Given the description of an element on the screen output the (x, y) to click on. 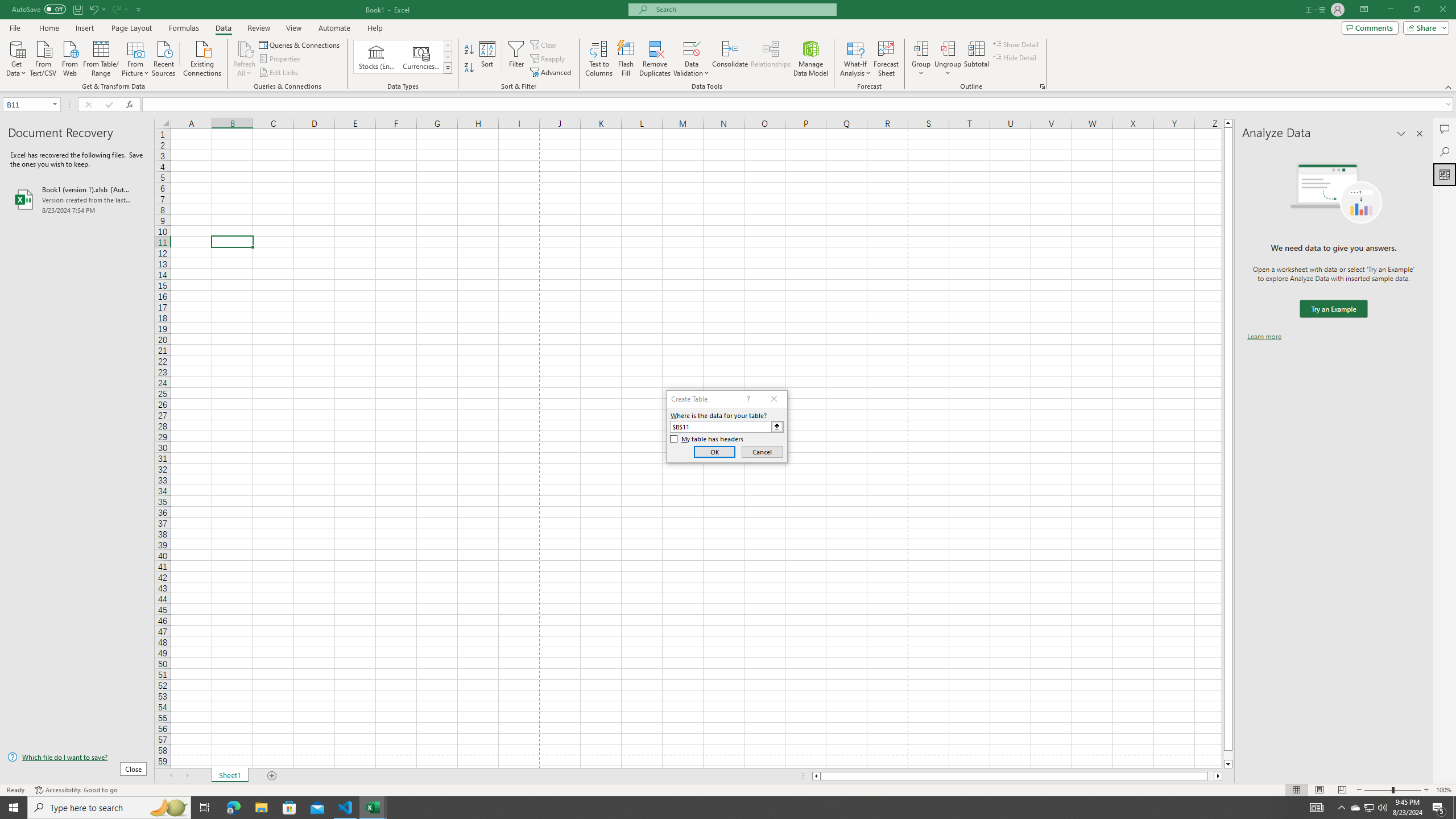
Refresh All (244, 48)
Line down (1228, 764)
Data (223, 28)
